Given the description of an element on the screen output the (x, y) to click on. 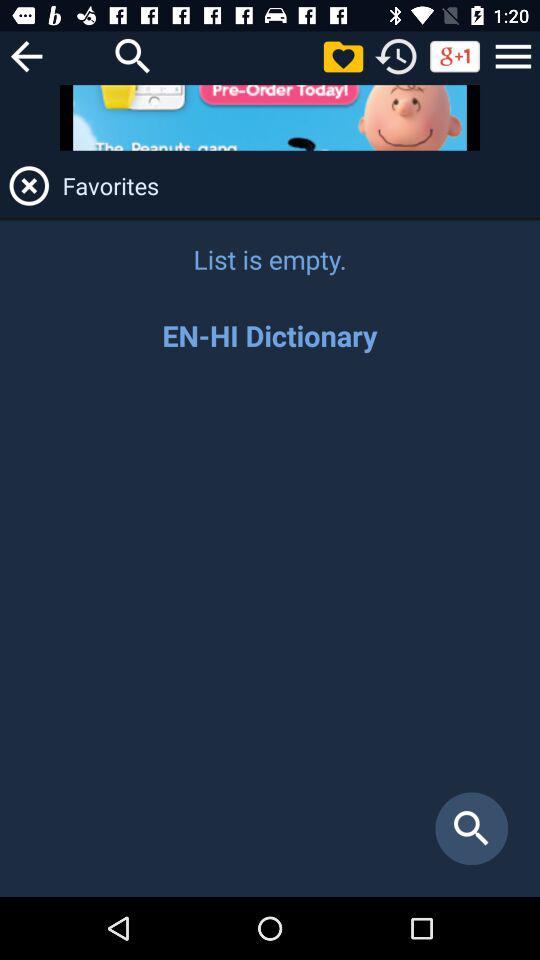
a magnifying glass to use for searching (133, 56)
